Given the description of an element on the screen output the (x, y) to click on. 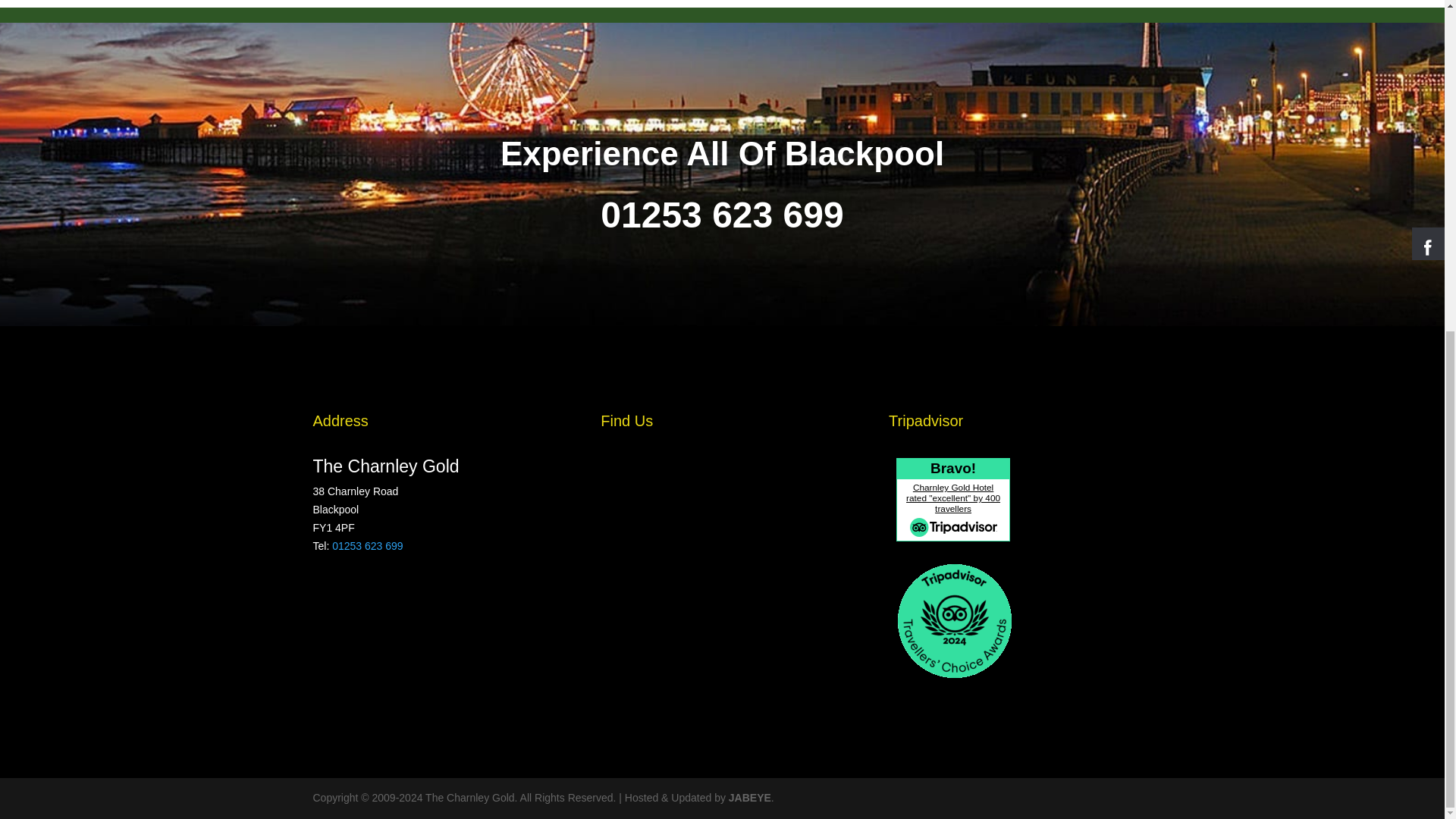
01253 623 699 (367, 545)
01253 623 699 (721, 214)
JABEYE (750, 797)
Charnley Gold Hotel rated "excellent" by 400 travellers (952, 498)
